Given the description of an element on the screen output the (x, y) to click on. 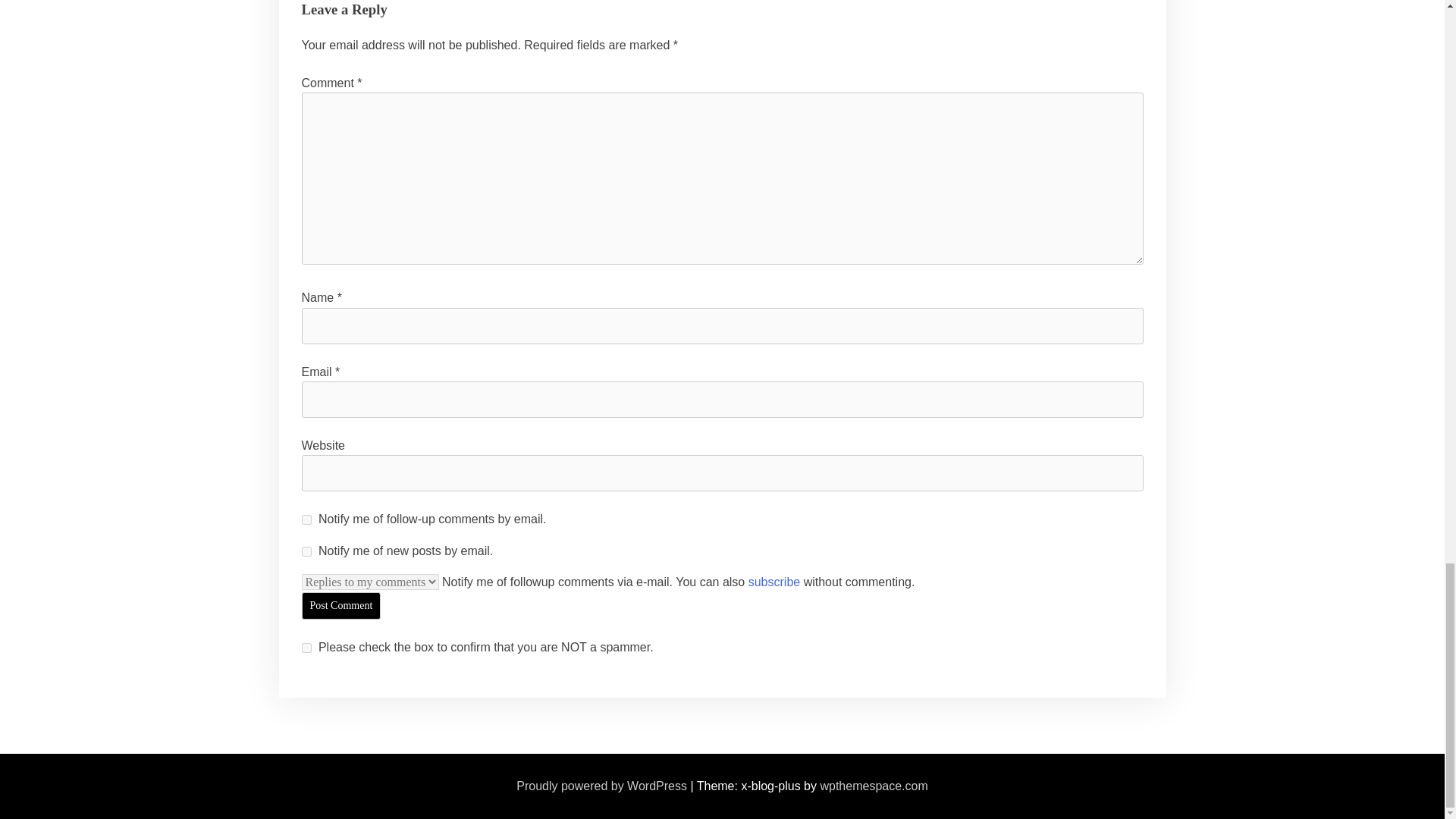
subscribe (773, 581)
Post Comment (341, 605)
wpthemespace.com (873, 786)
Post Comment (341, 605)
subscribe (306, 519)
subscribe (306, 551)
on (306, 647)
Proudly powered by WordPress (601, 786)
